Given the description of an element on the screen output the (x, y) to click on. 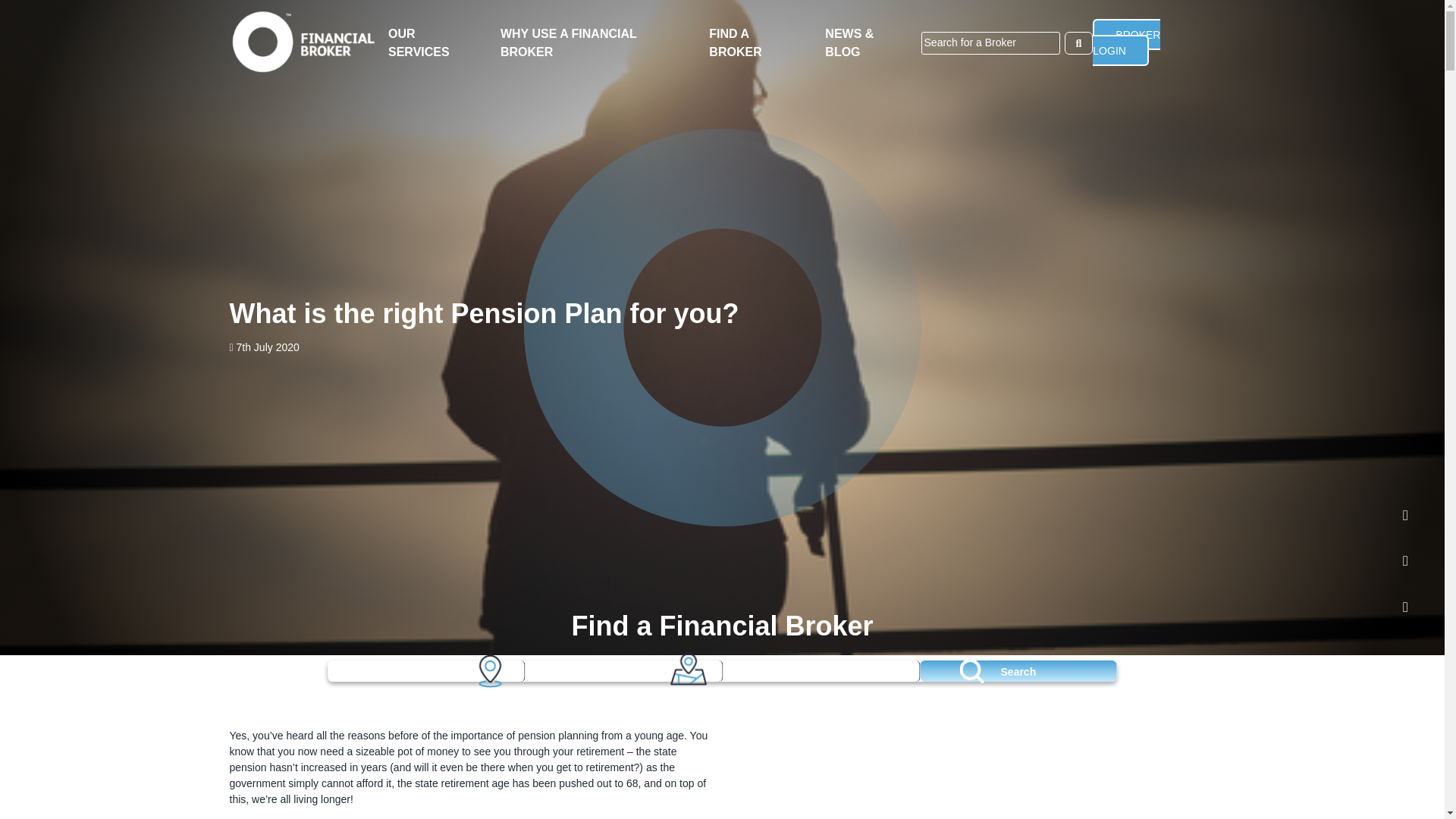
FIND A BROKER (735, 42)
Broker login (1126, 42)
OUR SERVICES (418, 42)
WHY USE A FINANCIAL BROKER (568, 42)
BROKER LOGIN (1126, 42)
Search (1018, 670)
Search (1018, 670)
